Given the description of an element on the screen output the (x, y) to click on. 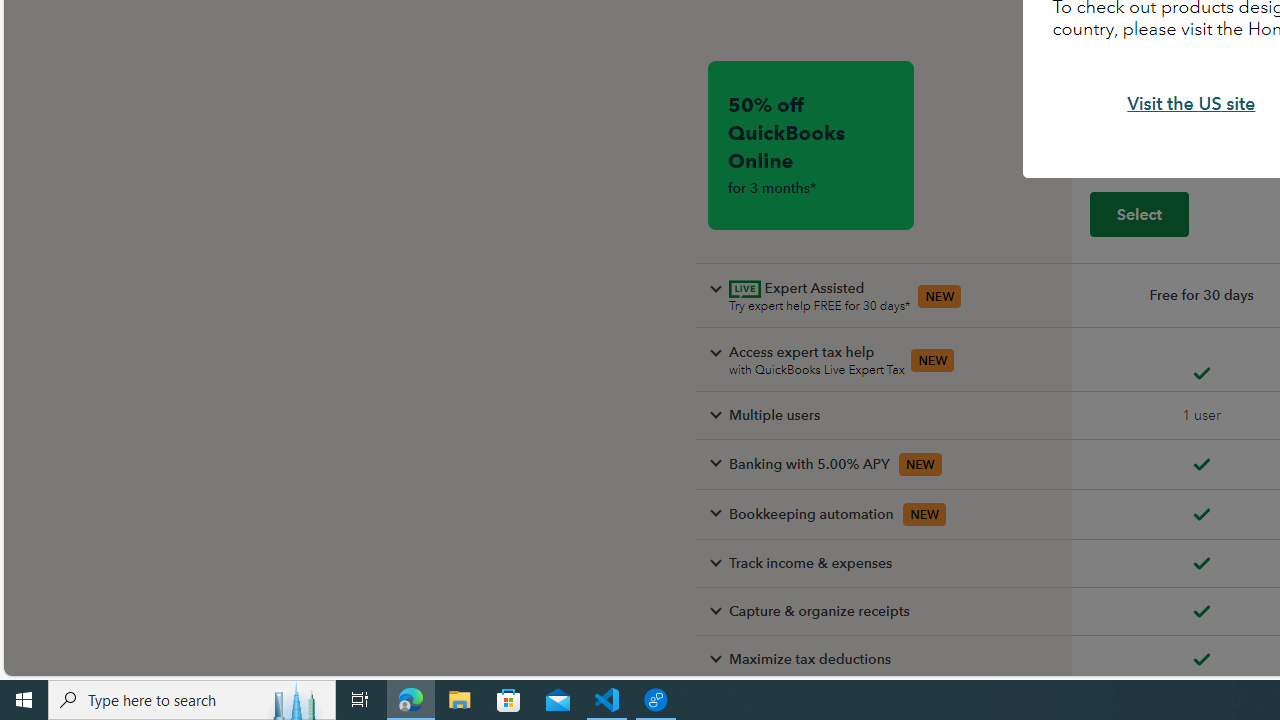
Select simple start (1139, 213)
